Given the description of an element on the screen output the (x, y) to click on. 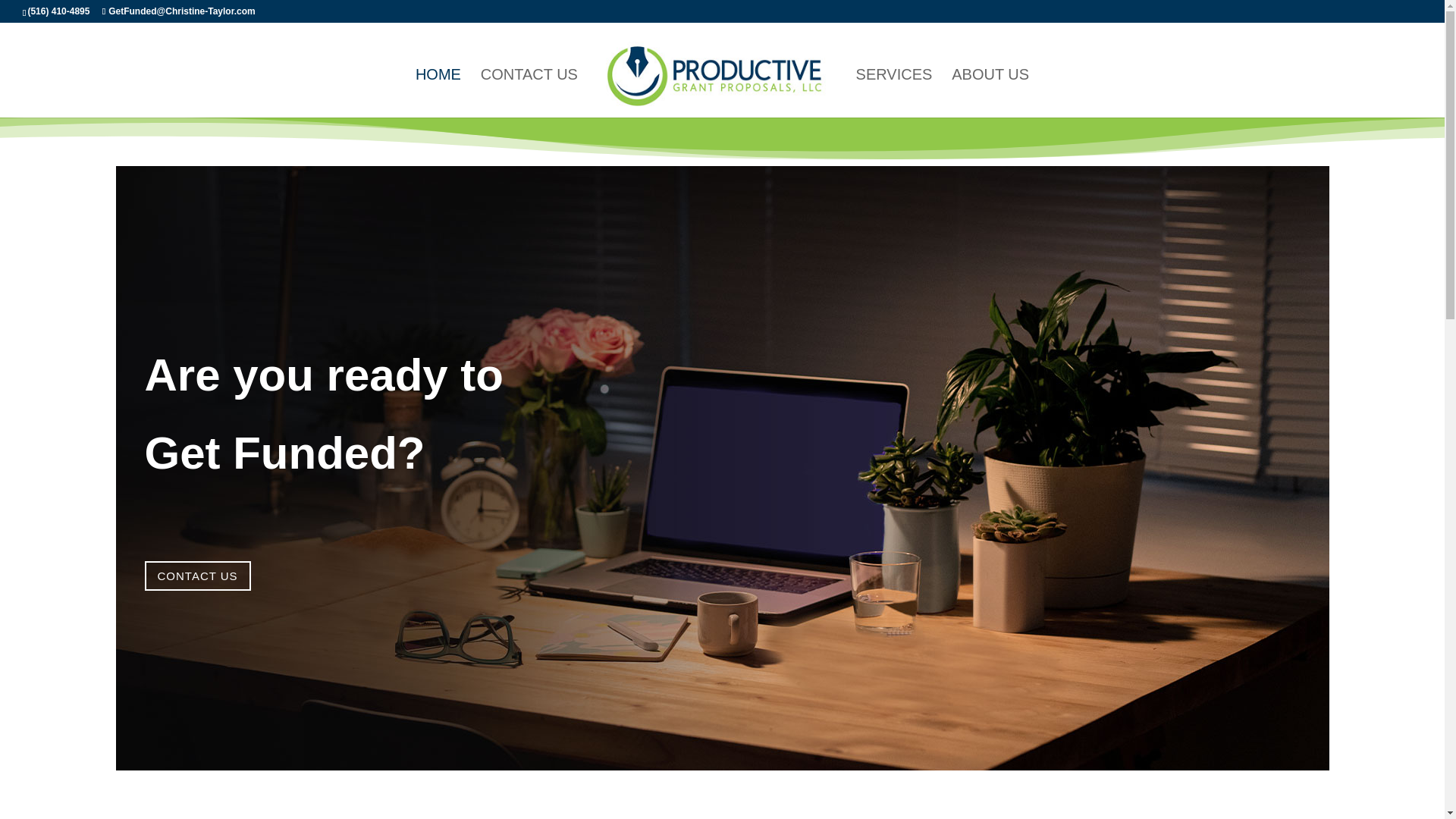
CONTACT US (197, 575)
ABOUT US (990, 92)
HOME (437, 92)
SERVICES (894, 92)
CONTACT US (529, 92)
